Given the description of an element on the screen output the (x, y) to click on. 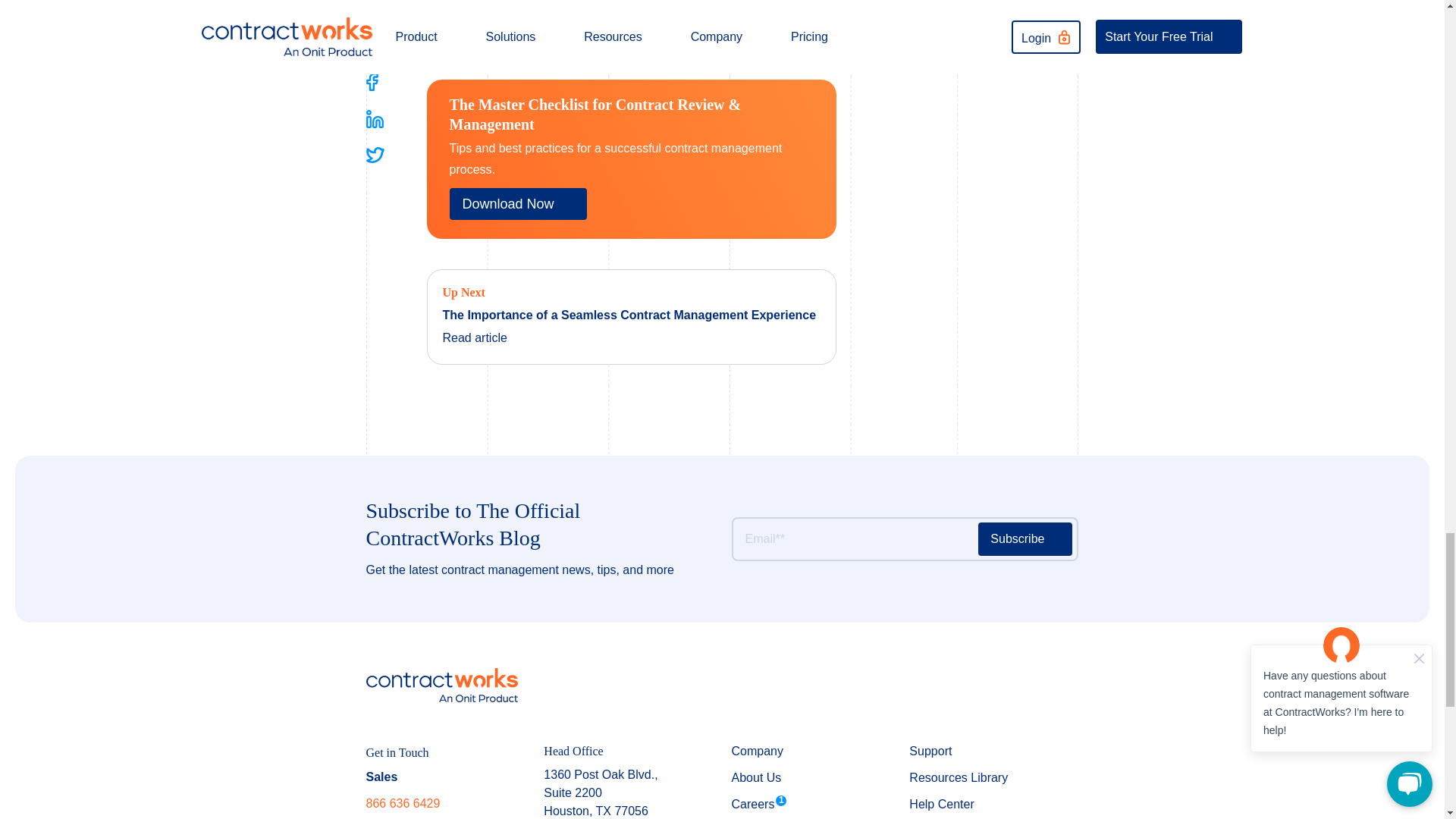
Download Now (517, 204)
Subscribe (1024, 539)
